Given the description of an element on the screen output the (x, y) to click on. 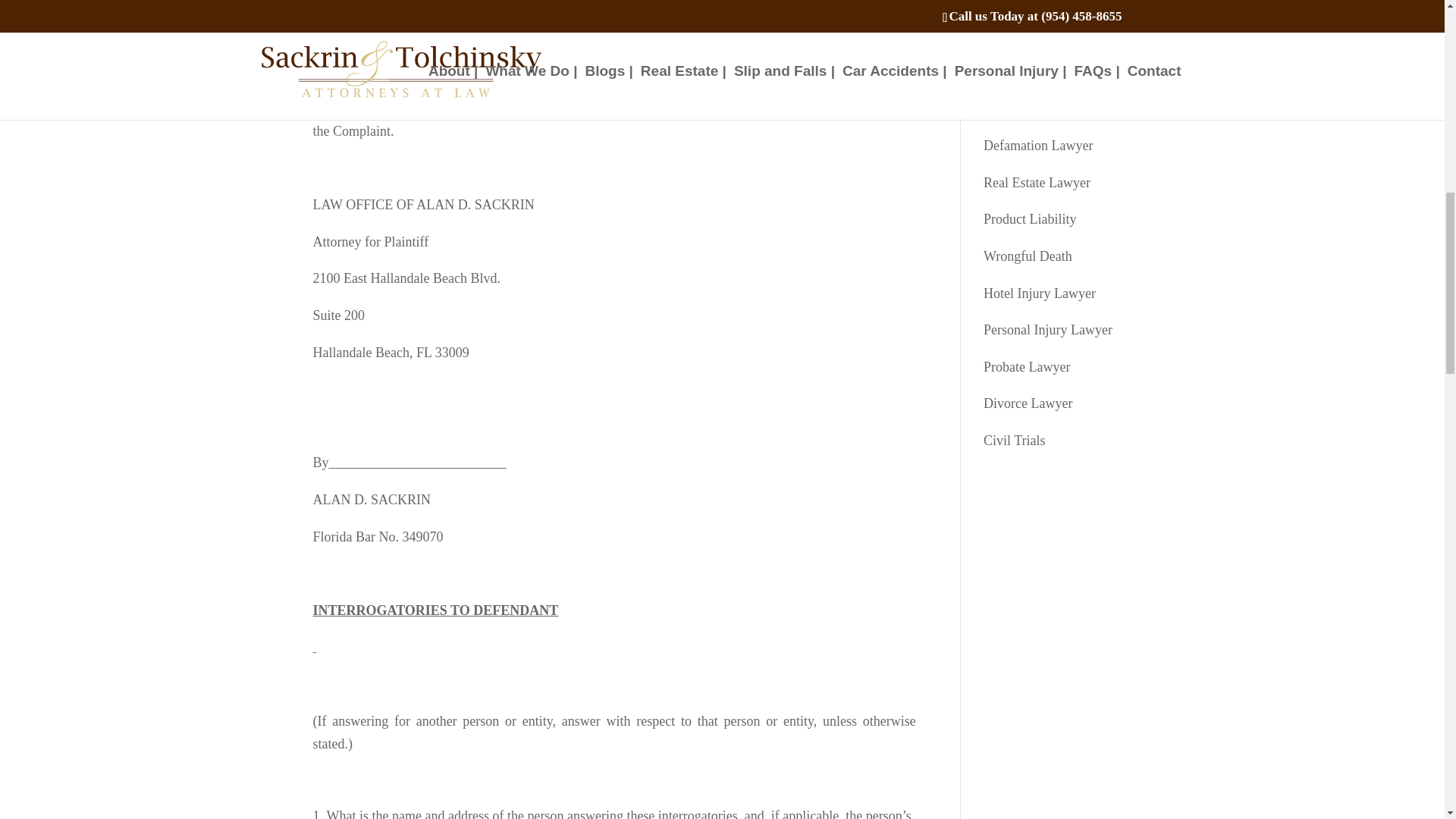
Real Estate Lawyer (1037, 182)
Defamation Lawyer (1038, 145)
Personal Injury Lawyer (1048, 329)
Car Accident Lawyer (1042, 71)
Probate Lawyer (1027, 366)
Product Liability (1029, 218)
Divorce Lawyer (1027, 403)
Civil Trials (1014, 440)
Hotel Injury Lawyer (1040, 292)
Slip and Fall Lawyer (1040, 109)
Wrongful Death (1027, 255)
